Given the description of an element on the screen output the (x, y) to click on. 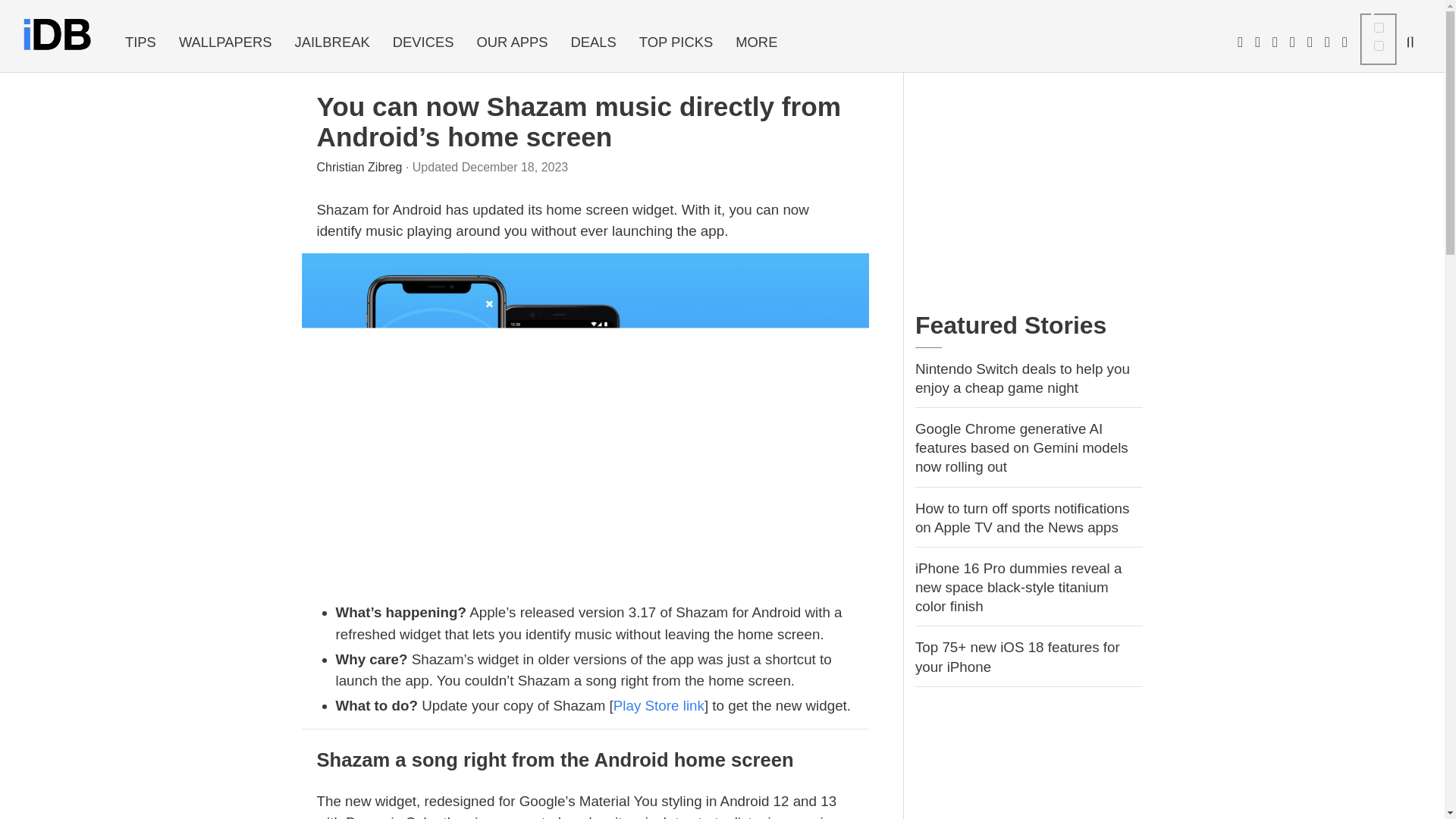
JAILBREAK (332, 42)
Tips (140, 42)
TIPS (140, 42)
Wallpapers (225, 42)
DEVICES (423, 42)
WALLPAPERS (225, 42)
OUR APPS (511, 42)
